Given the description of an element on the screen output the (x, y) to click on. 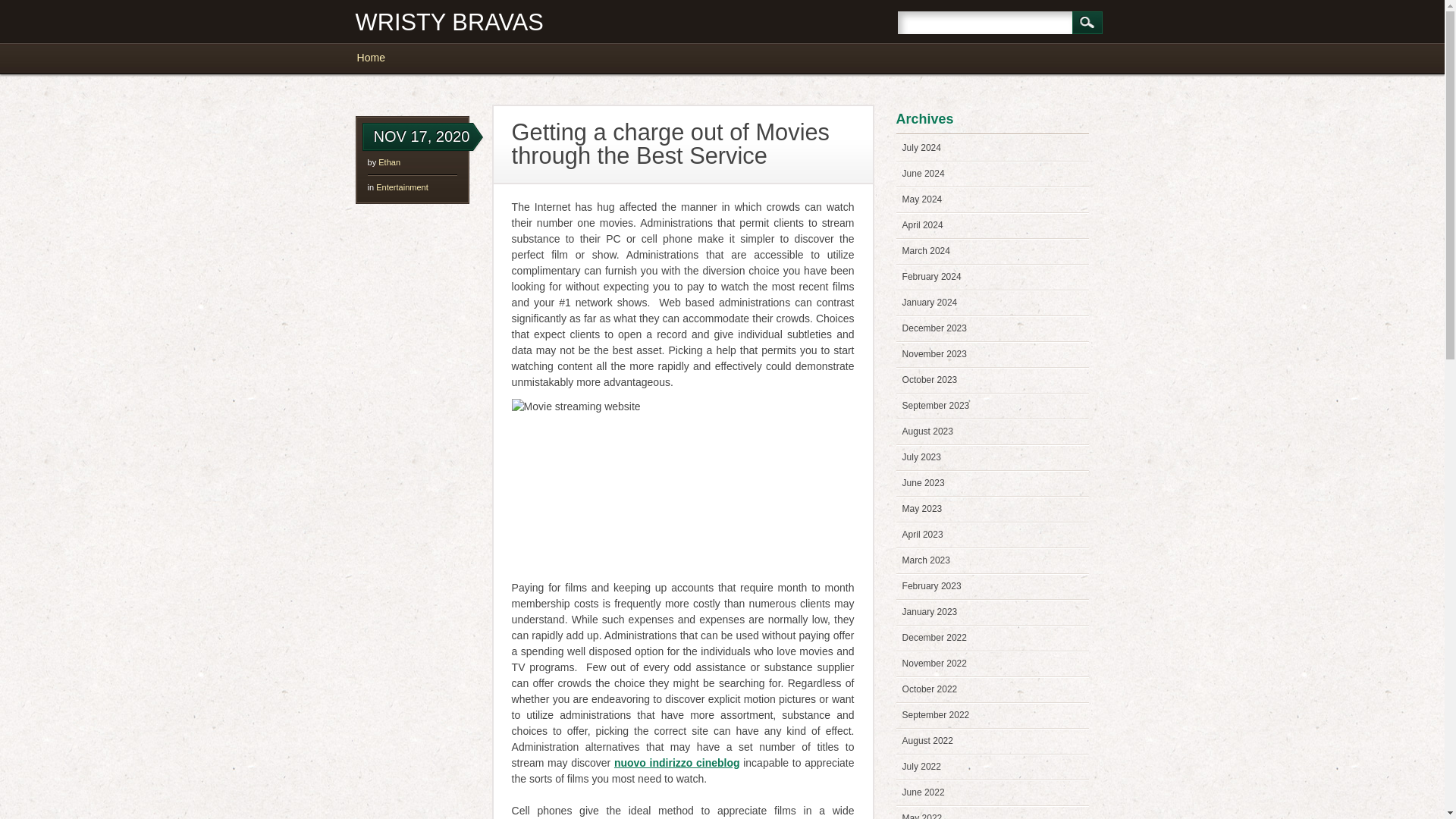
May 2022 (922, 816)
Ethan (389, 162)
View all posts by Ethan (389, 162)
November 2023 (934, 353)
April 2023 (922, 534)
July 2022 (921, 766)
May 2024 (922, 199)
July 2024 (921, 147)
July 2023 (921, 457)
January 2023 (930, 611)
